Given the description of an element on the screen output the (x, y) to click on. 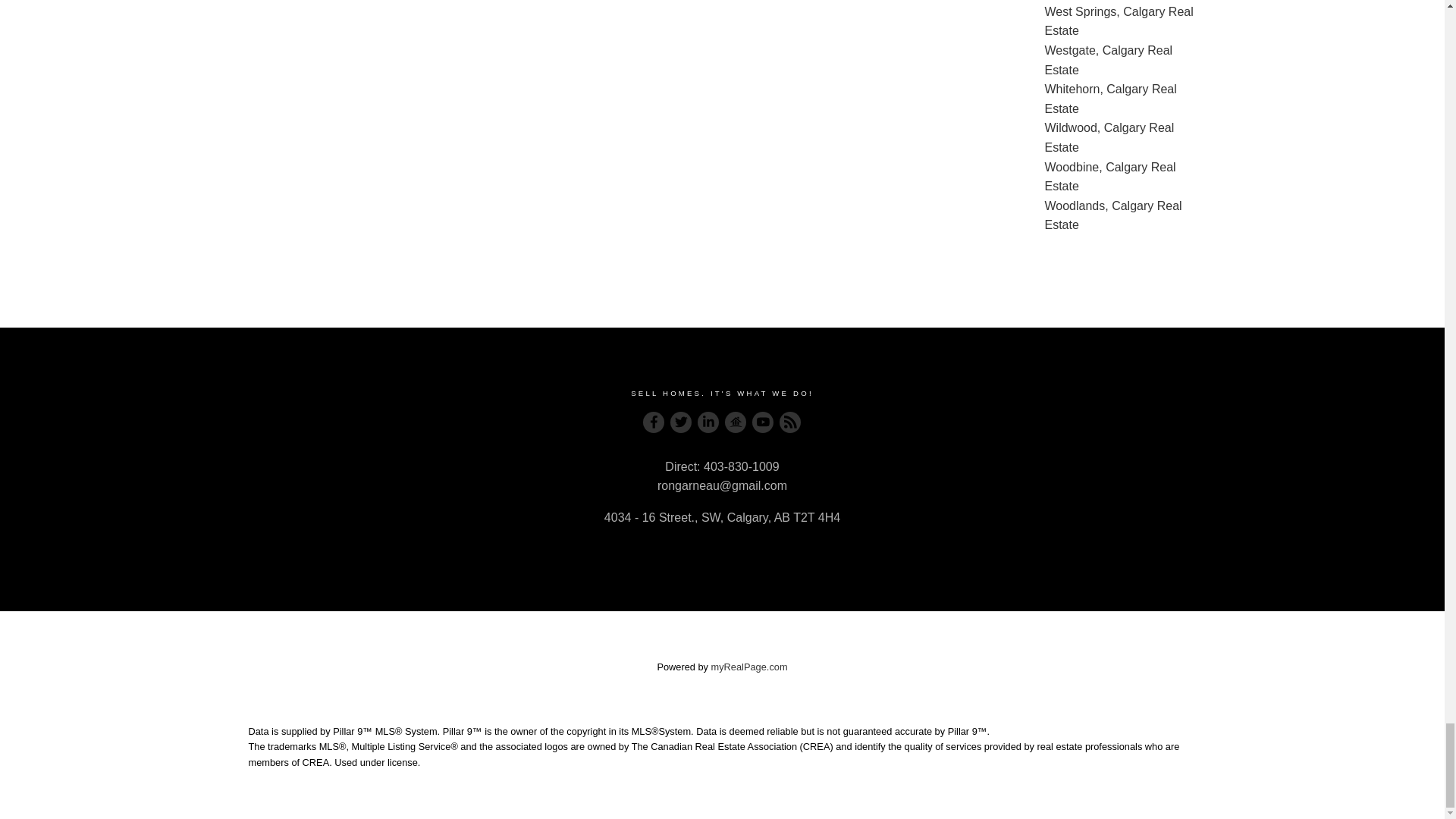
Rank My Agent (735, 422)
Facebook (653, 422)
Blog (789, 422)
linkedin (708, 422)
YouTube (762, 422)
Twitter (680, 422)
